Given the description of an element on the screen output the (x, y) to click on. 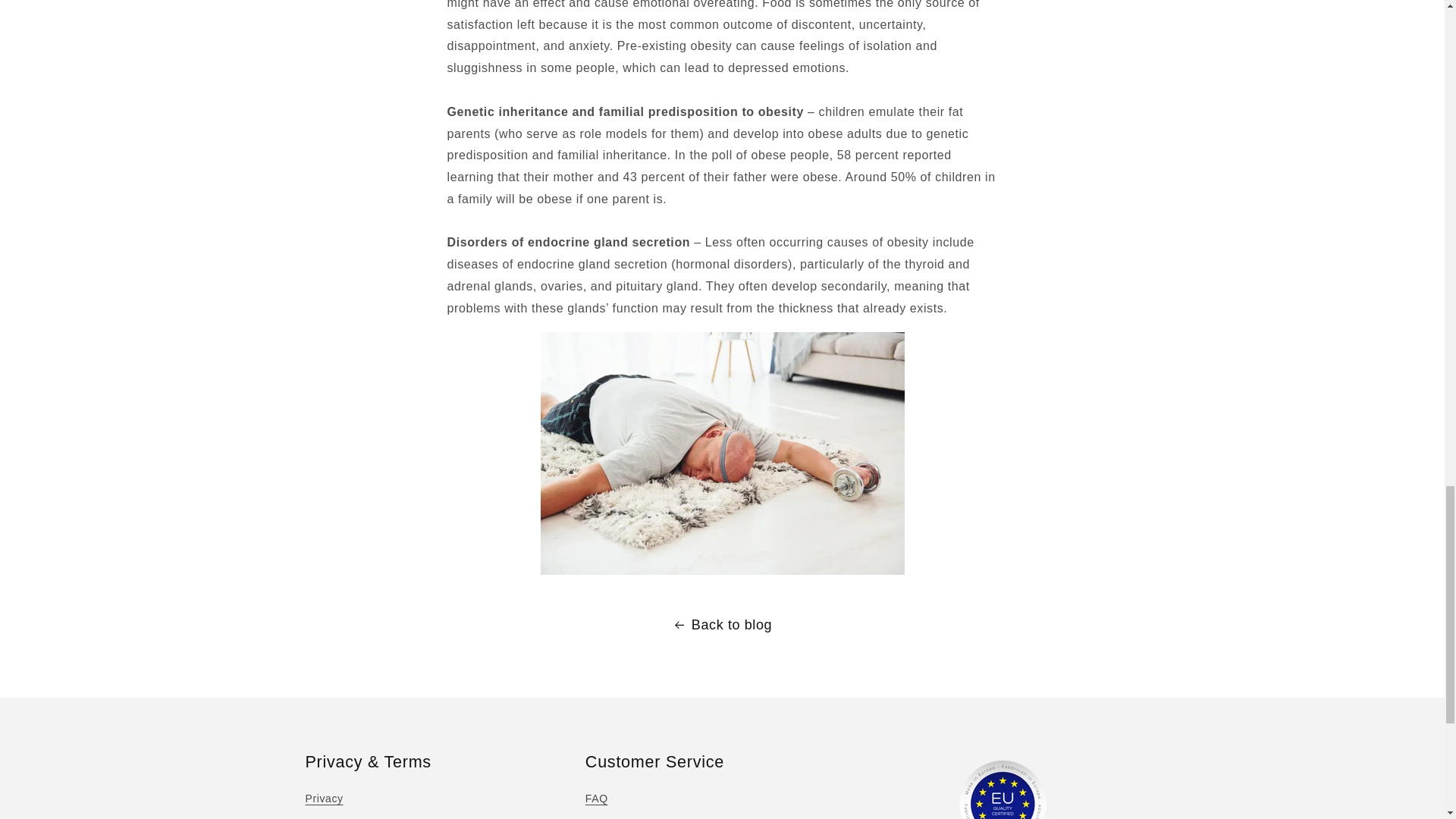
Terms (320, 815)
Privacy (323, 800)
FAQ (596, 800)
Contact (604, 815)
